Given the description of an element on the screen output the (x, y) to click on. 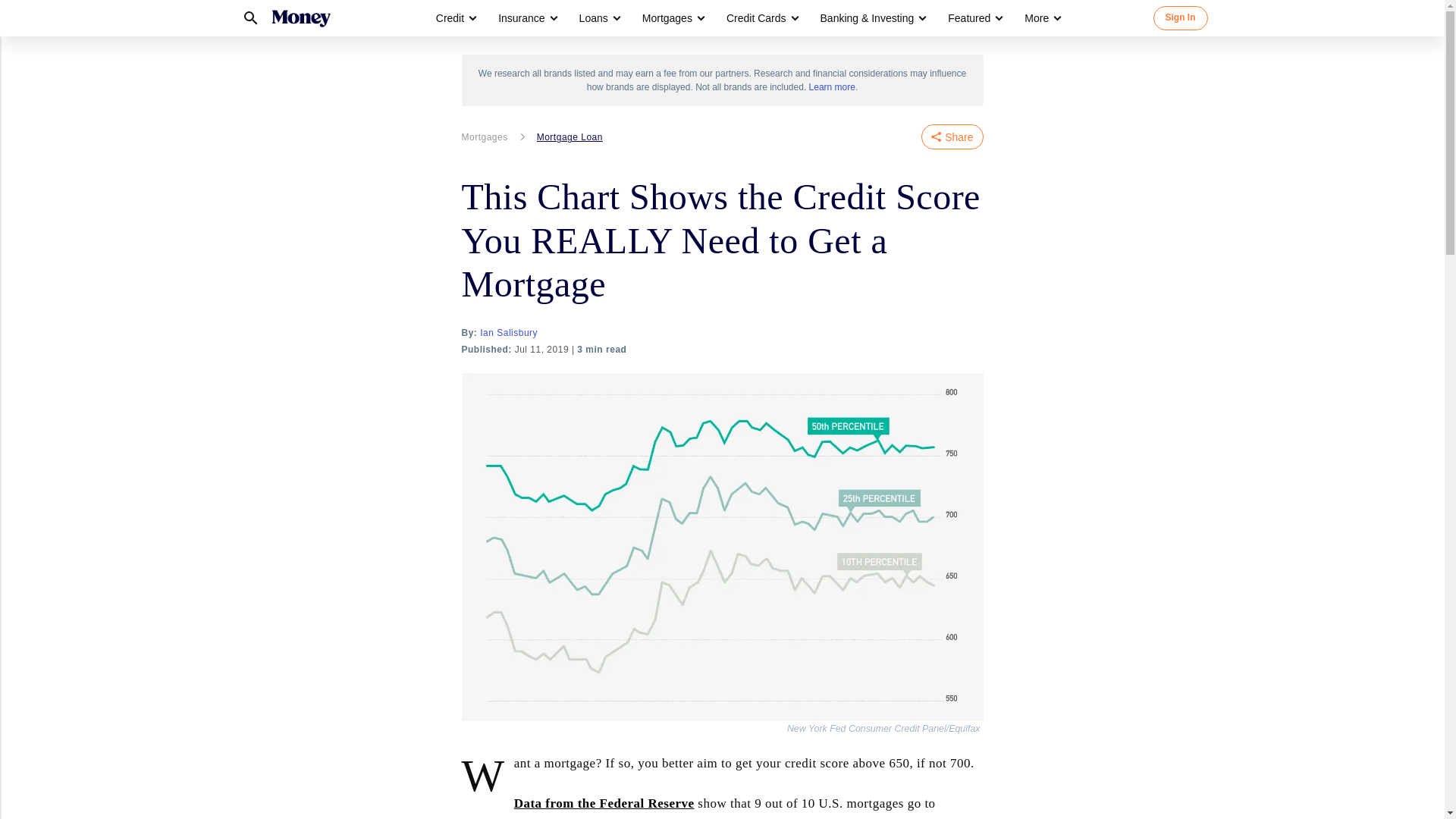
Credit Cards (761, 18)
Loans (598, 18)
Loans (593, 18)
Insurance (526, 18)
Insurance (520, 18)
Credit Cards (756, 18)
Credit (455, 18)
Credit (449, 18)
Mortgages (667, 18)
Mortgages (672, 18)
